Given the description of an element on the screen output the (x, y) to click on. 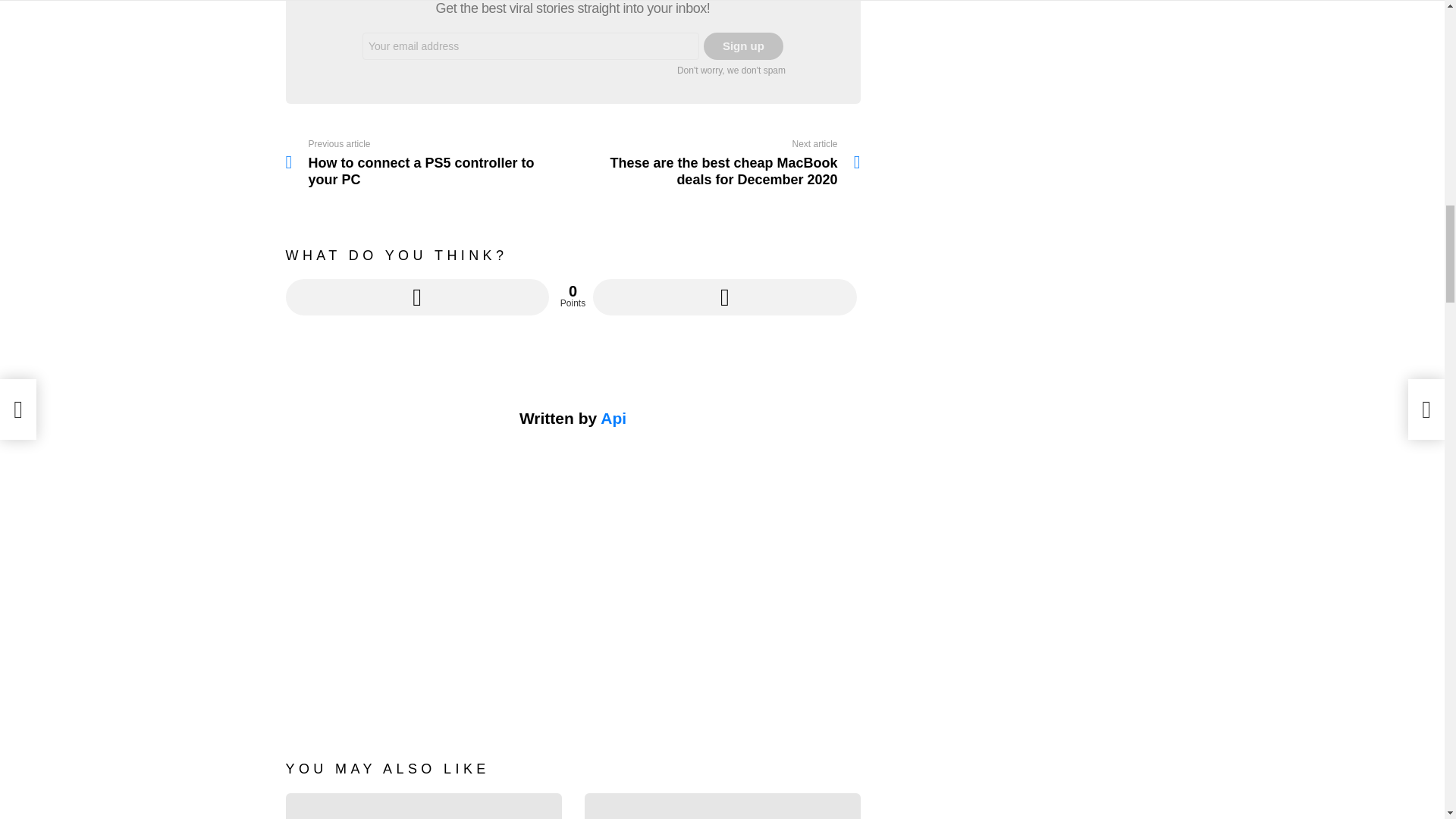
Downvote (724, 297)
Upvote (428, 163)
Sign up (416, 297)
Api (743, 45)
Downvote (612, 417)
Upvote (724, 297)
Sign up (416, 297)
